Given the description of an element on the screen output the (x, y) to click on. 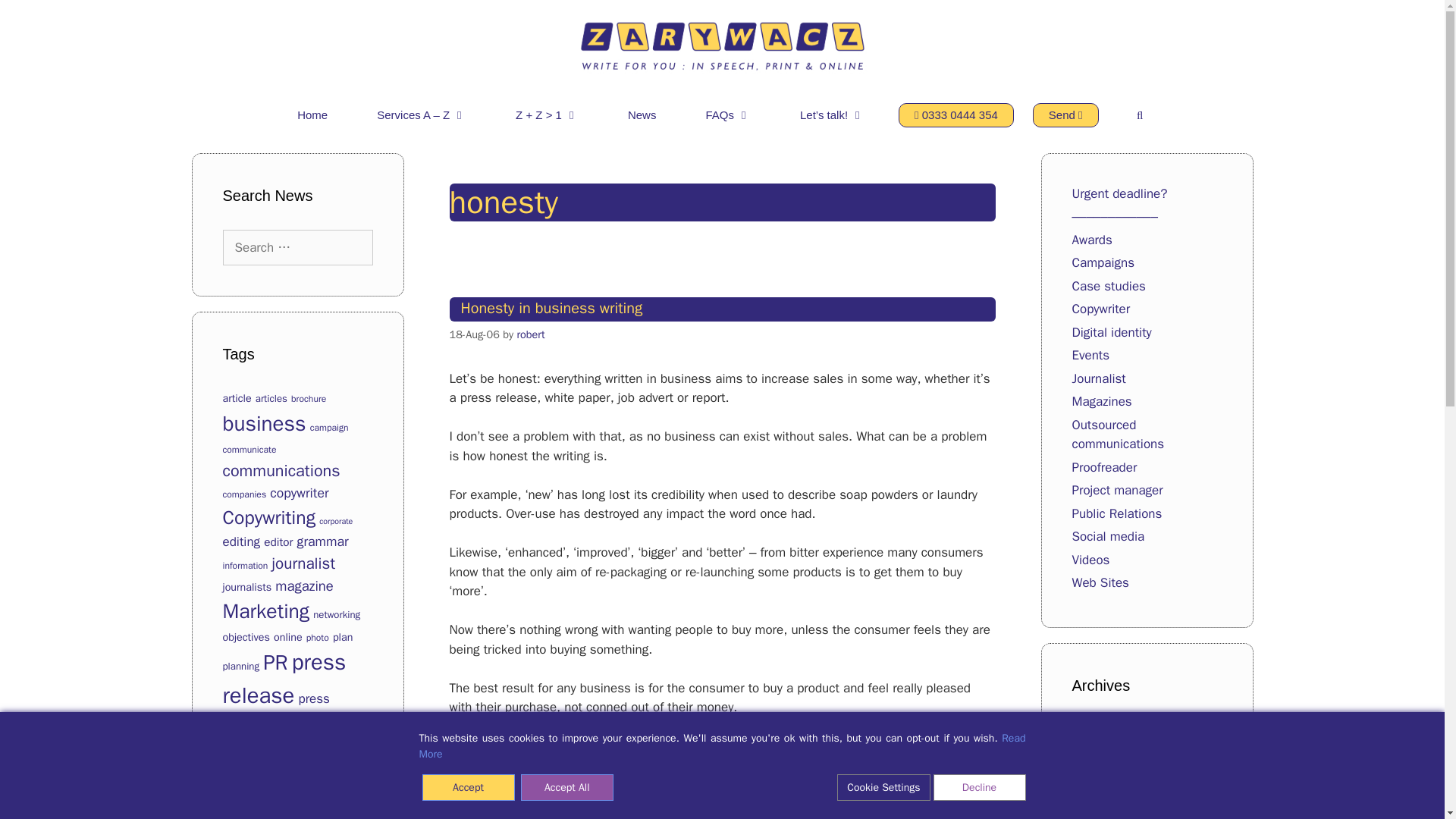
Email us your requirements now (1065, 115)
Search for: (297, 248)
Home (312, 115)
View all posts by robert (530, 334)
Click to call us now (955, 115)
